Given the description of an element on the screen output the (x, y) to click on. 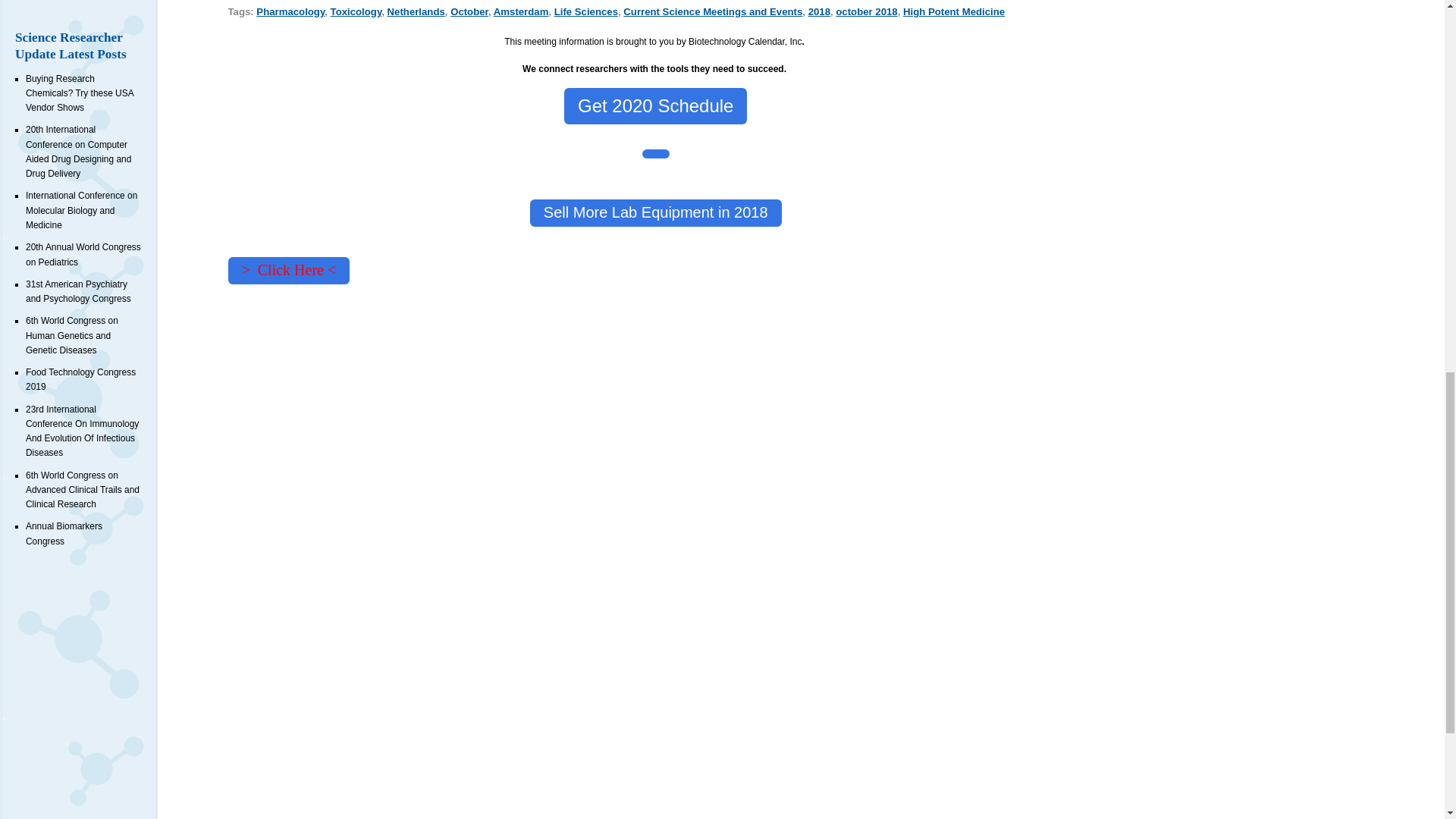
International Conference on Molecular Biology and Medicine (81, 210)
20th Annual World Congress on Pediatrics (83, 253)
Life Sciences (585, 11)
Get 2020 Schedule (656, 105)
october 2018 (865, 11)
Buying Research Chemicals? Try these USA Vendor Shows (79, 93)
October (468, 11)
Food Technology Congress 2019 (80, 379)
